Given the description of an element on the screen output the (x, y) to click on. 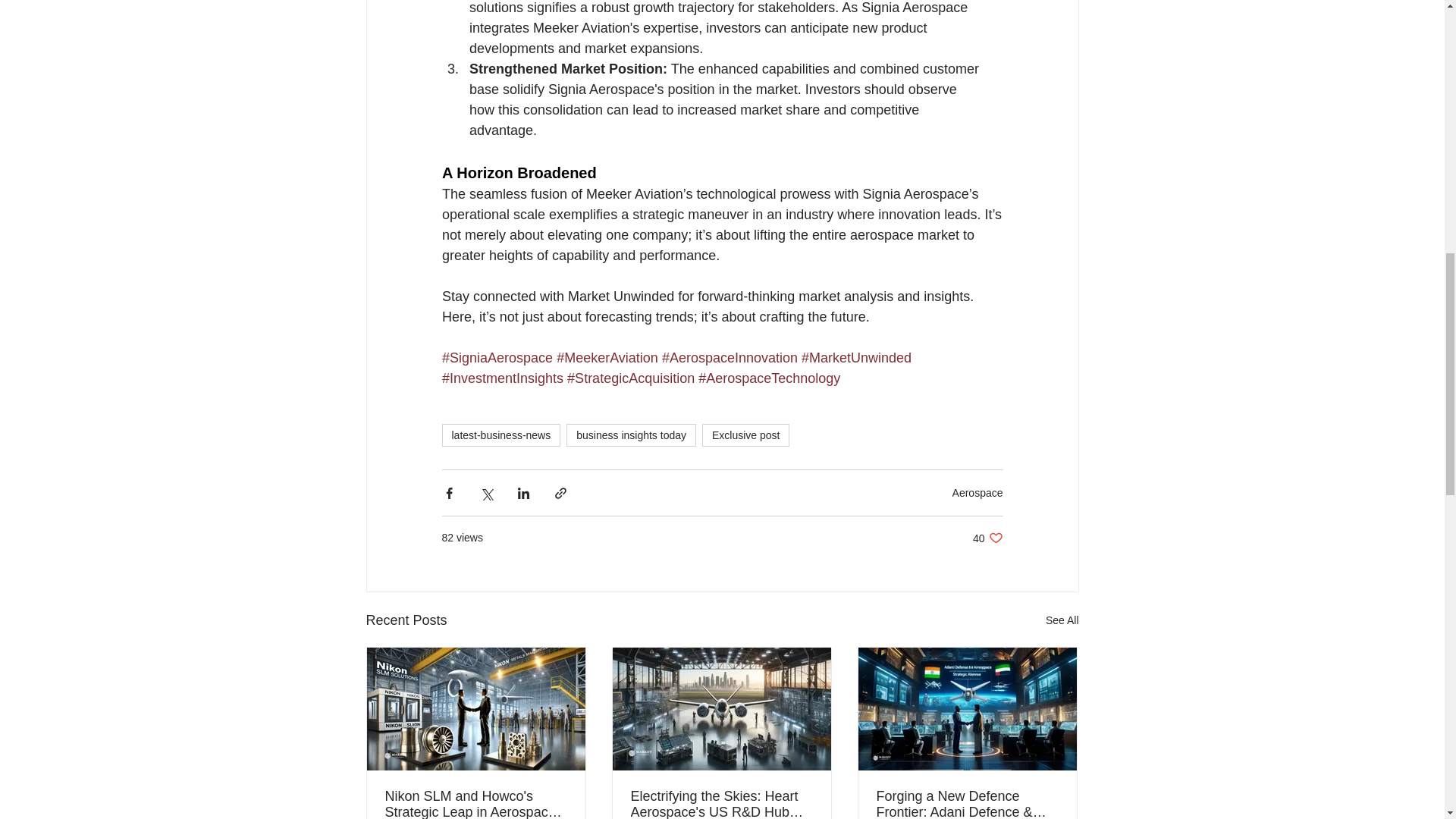
Exclusive post (745, 435)
business insights today (630, 435)
Aerospace (977, 492)
See All (1061, 620)
latest-business-news (500, 435)
